Given the description of an element on the screen output the (x, y) to click on. 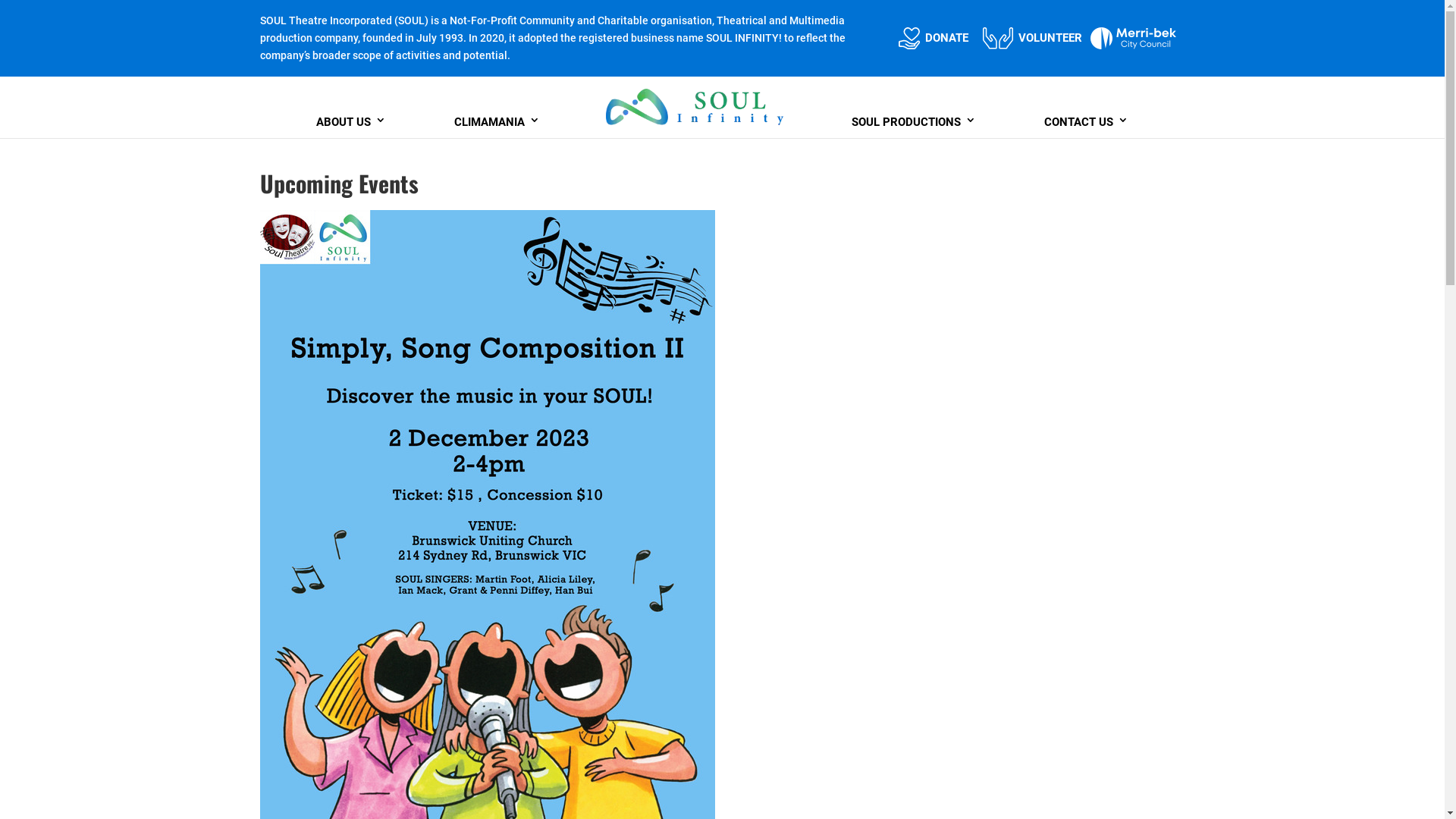
Volunteer Icon Element type: hover (997, 38)
DONATE Element type: text (946, 38)
CONTACT US Element type: text (1086, 119)
Donate Icon Element type: hover (909, 38)
VOLUNTEER Element type: text (1050, 38)
CLIMAMANIA Element type: text (496, 119)
Merri Bek Icon Element type: hover (1133, 38)
ABOUT US Element type: text (350, 119)
SOUL PRODUCTIONS Element type: text (913, 119)
